Given the description of an element on the screen output the (x, y) to click on. 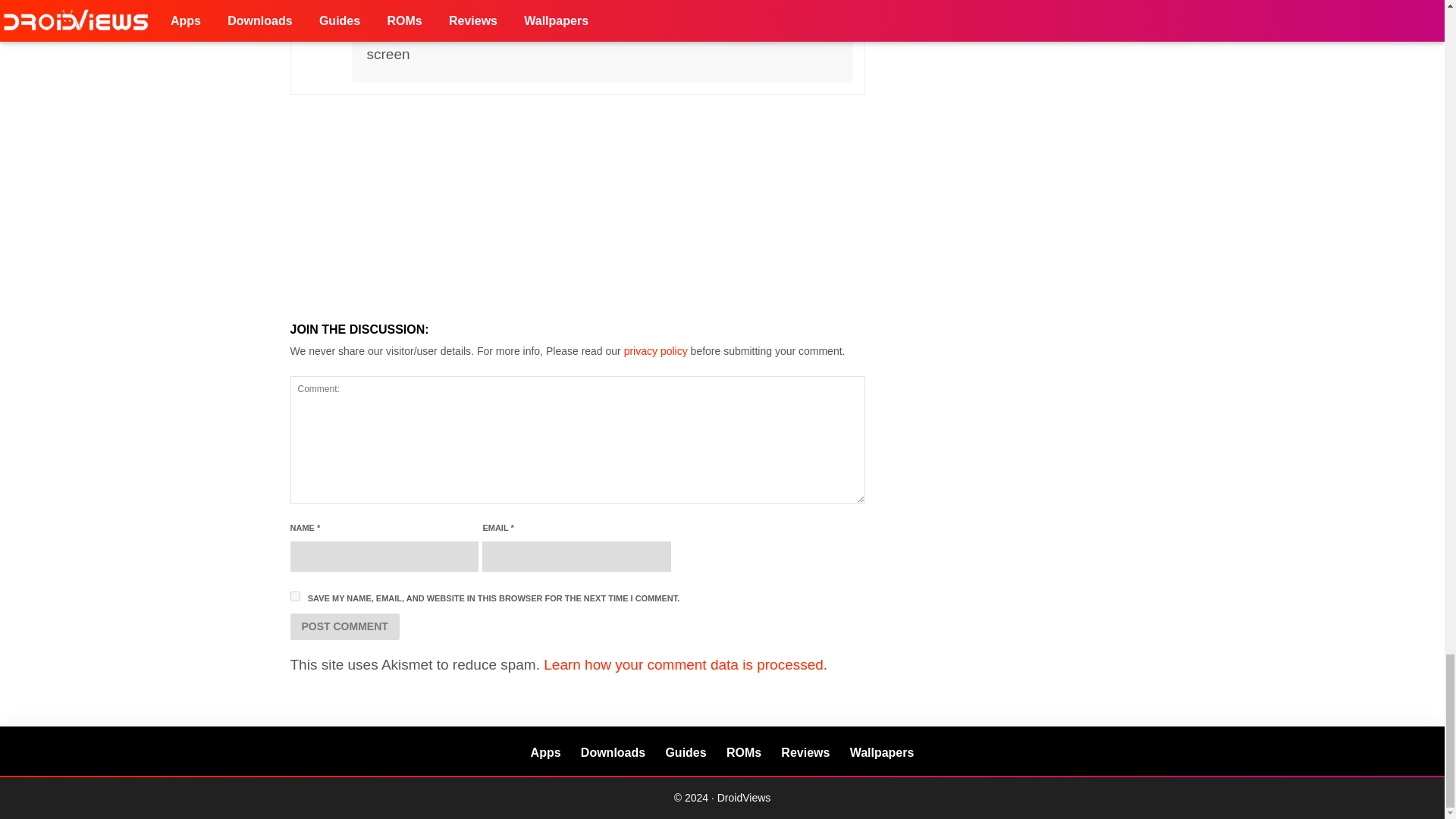
Post Comment (343, 626)
Apps (545, 752)
yes (294, 596)
Learn how your comment data is processed (683, 664)
comment-policy-title (655, 350)
Post Comment (343, 626)
privacy policy (655, 350)
Downloads (612, 752)
